Given the description of an element on the screen output the (x, y) to click on. 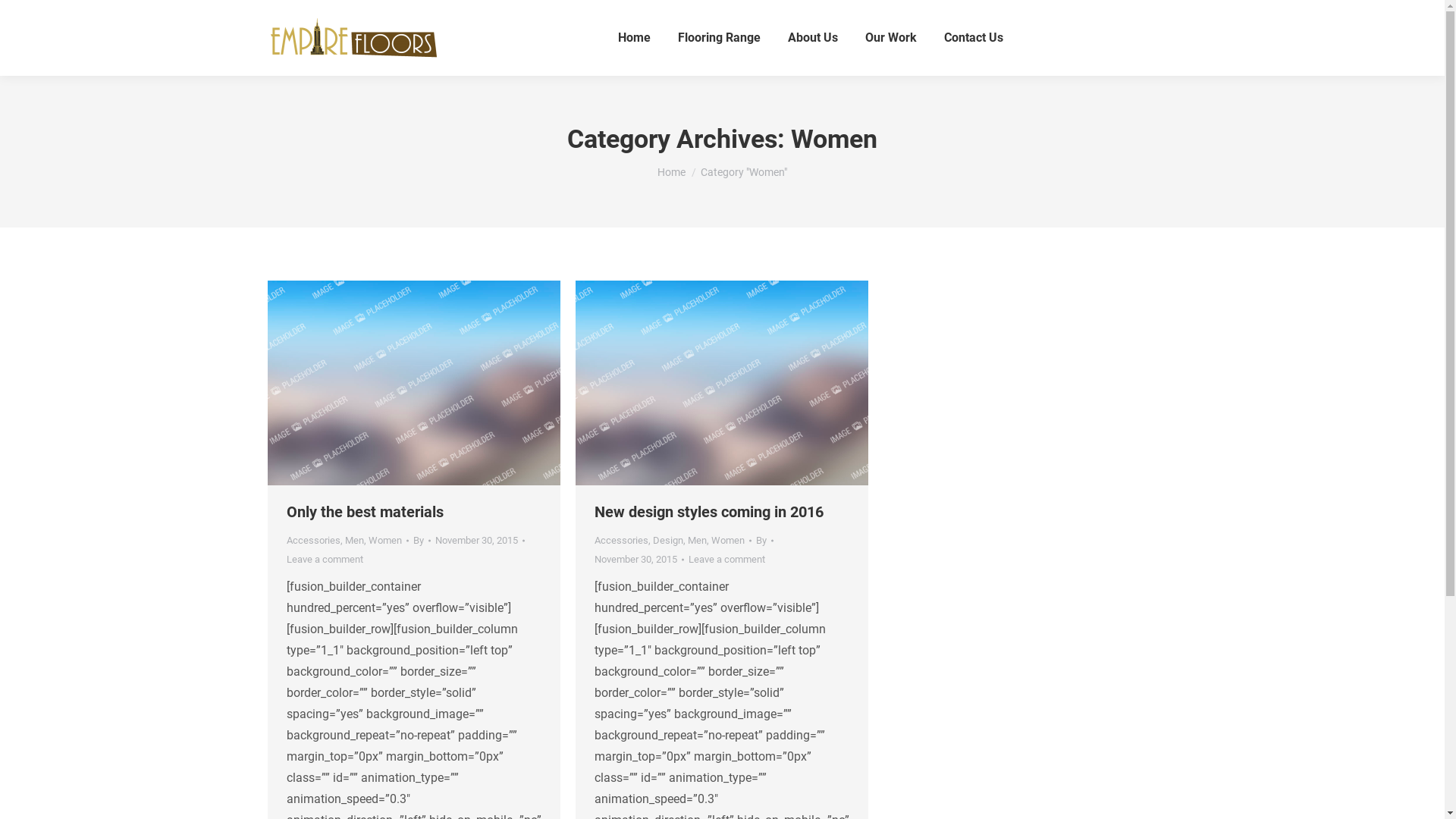
Men Element type: text (353, 540)
Leave a comment Element type: text (726, 558)
By Element type: text (420, 539)
Women Element type: text (727, 540)
By Element type: text (763, 539)
Home Element type: text (671, 172)
About Us Element type: text (812, 37)
Only the best materials Element type: text (364, 511)
Flooring Range Element type: text (718, 37)
Leave a comment Element type: text (324, 558)
Contact Us Element type: text (973, 37)
Accessories Element type: text (621, 540)
Our Work Element type: text (890, 37)
Men Element type: text (696, 540)
Design Element type: text (667, 540)
Women Element type: text (384, 540)
November 30, 2015 Element type: text (479, 539)
November 30, 2015 Element type: text (639, 558)
Accessories Element type: text (313, 540)
New design styles coming in 2016 Element type: text (708, 511)
Home Element type: text (634, 37)
HOME Element type: hover (720, 382)
